Given the description of an element on the screen output the (x, y) to click on. 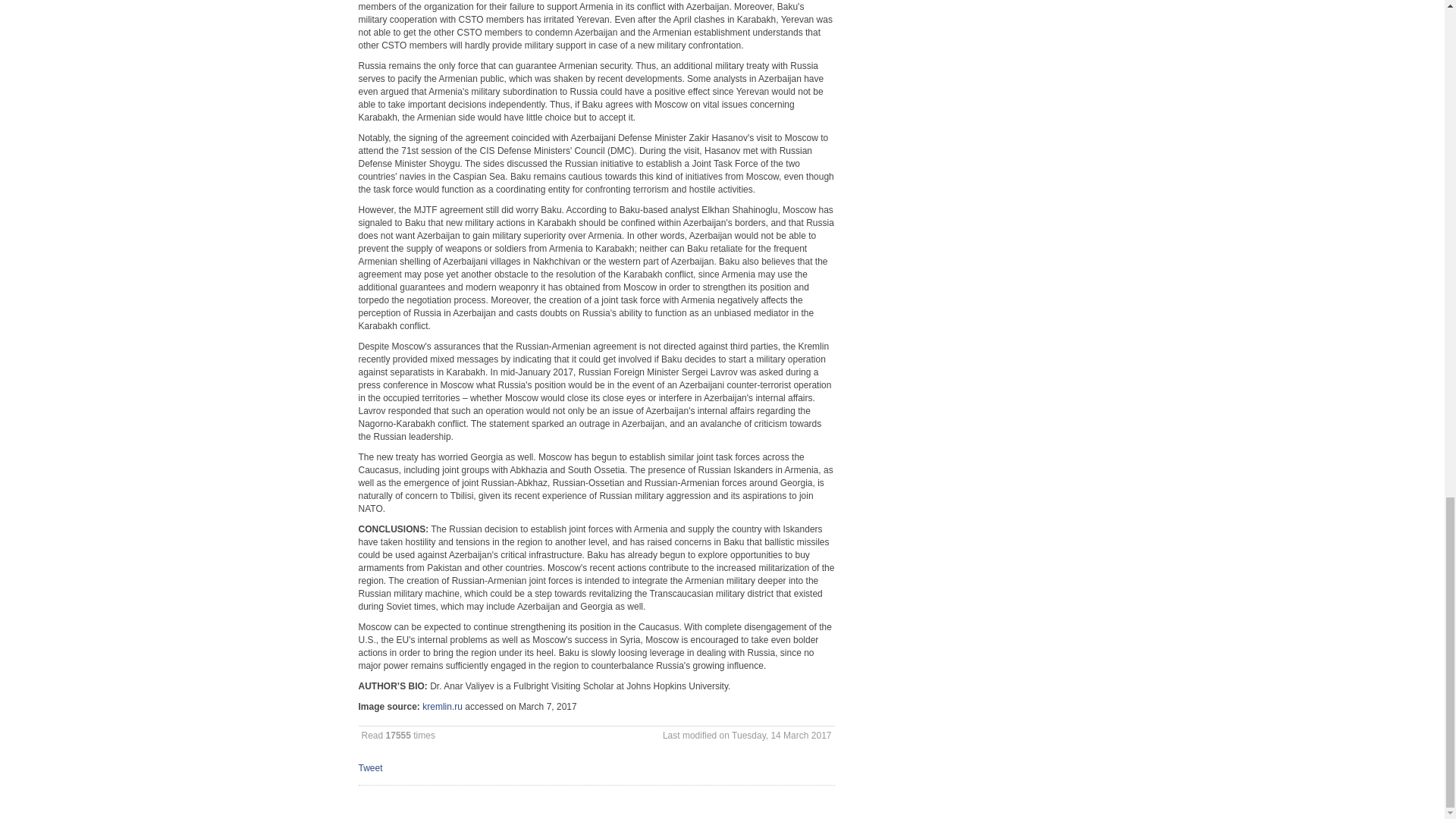
Tweet (369, 767)
kremlin.ru (442, 706)
